Given the description of an element on the screen output the (x, y) to click on. 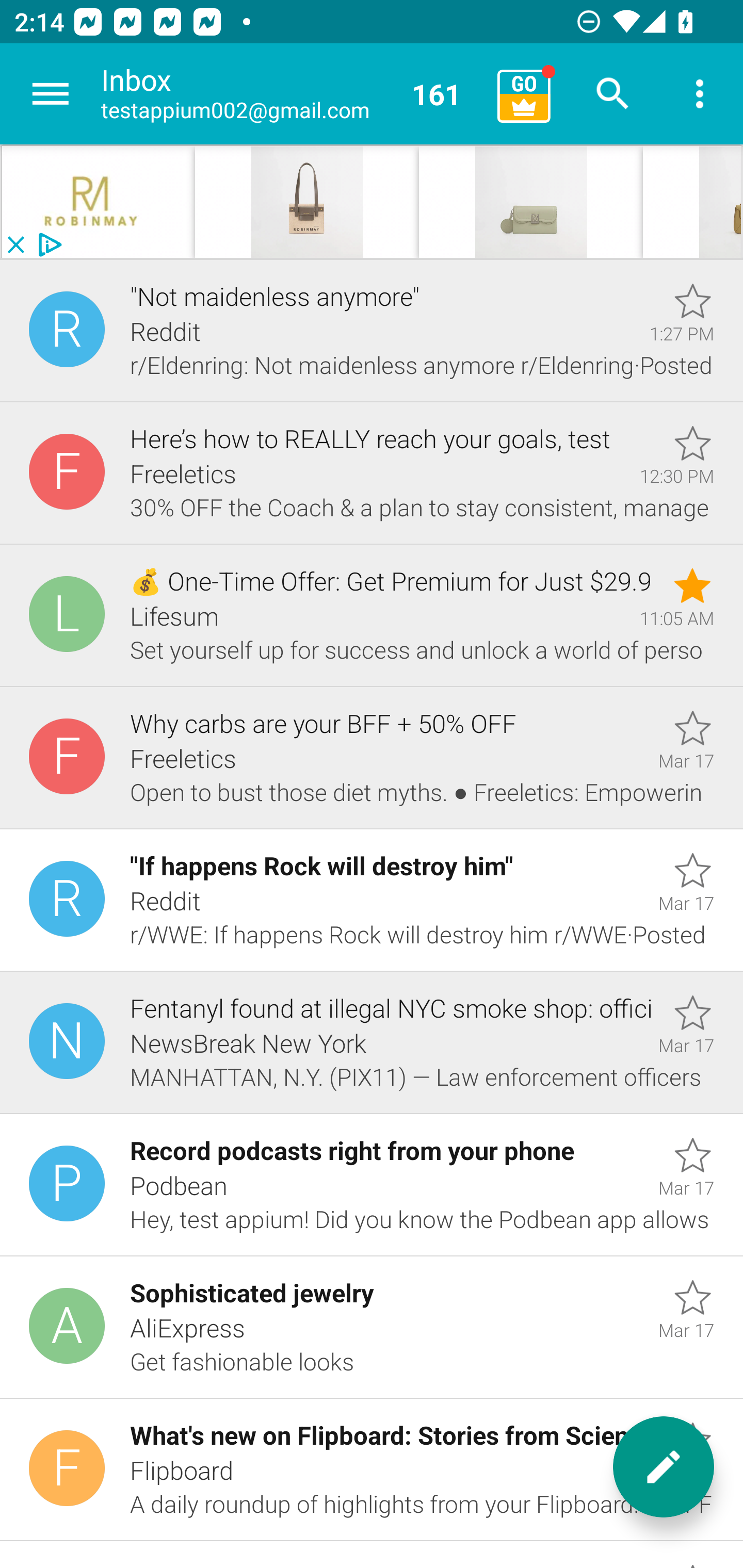
Navigate up (50, 93)
Inbox testappium002@gmail.com 161 (291, 93)
Search (612, 93)
More options (699, 93)
   (91, 202)
close_button (14, 245)
privacy_small (47, 245)
New message (663, 1466)
